Given the description of an element on the screen output the (x, y) to click on. 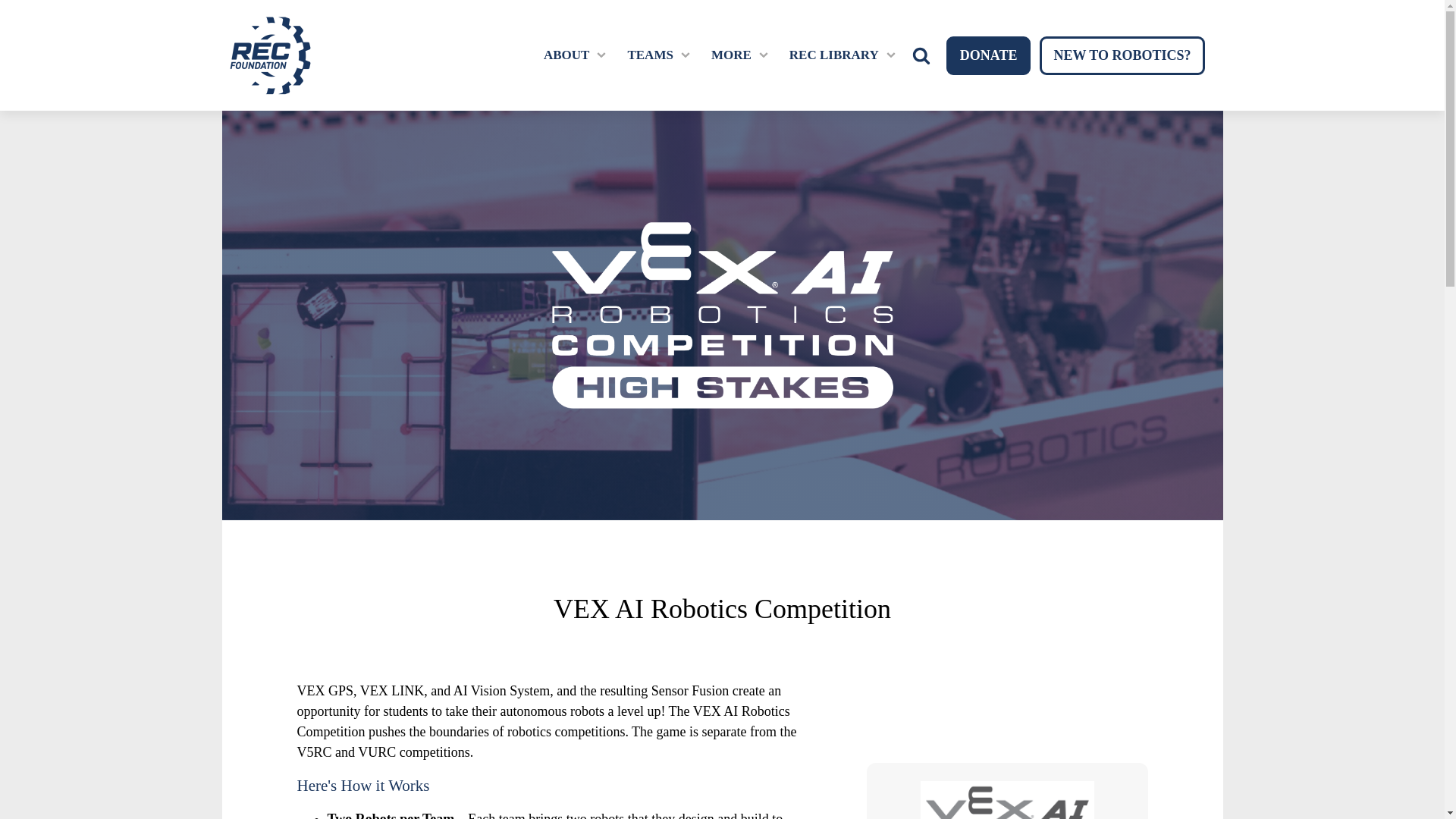
ABOUT (565, 54)
TEAMS (649, 54)
MORE (730, 54)
